Given the description of an element on the screen output the (x, y) to click on. 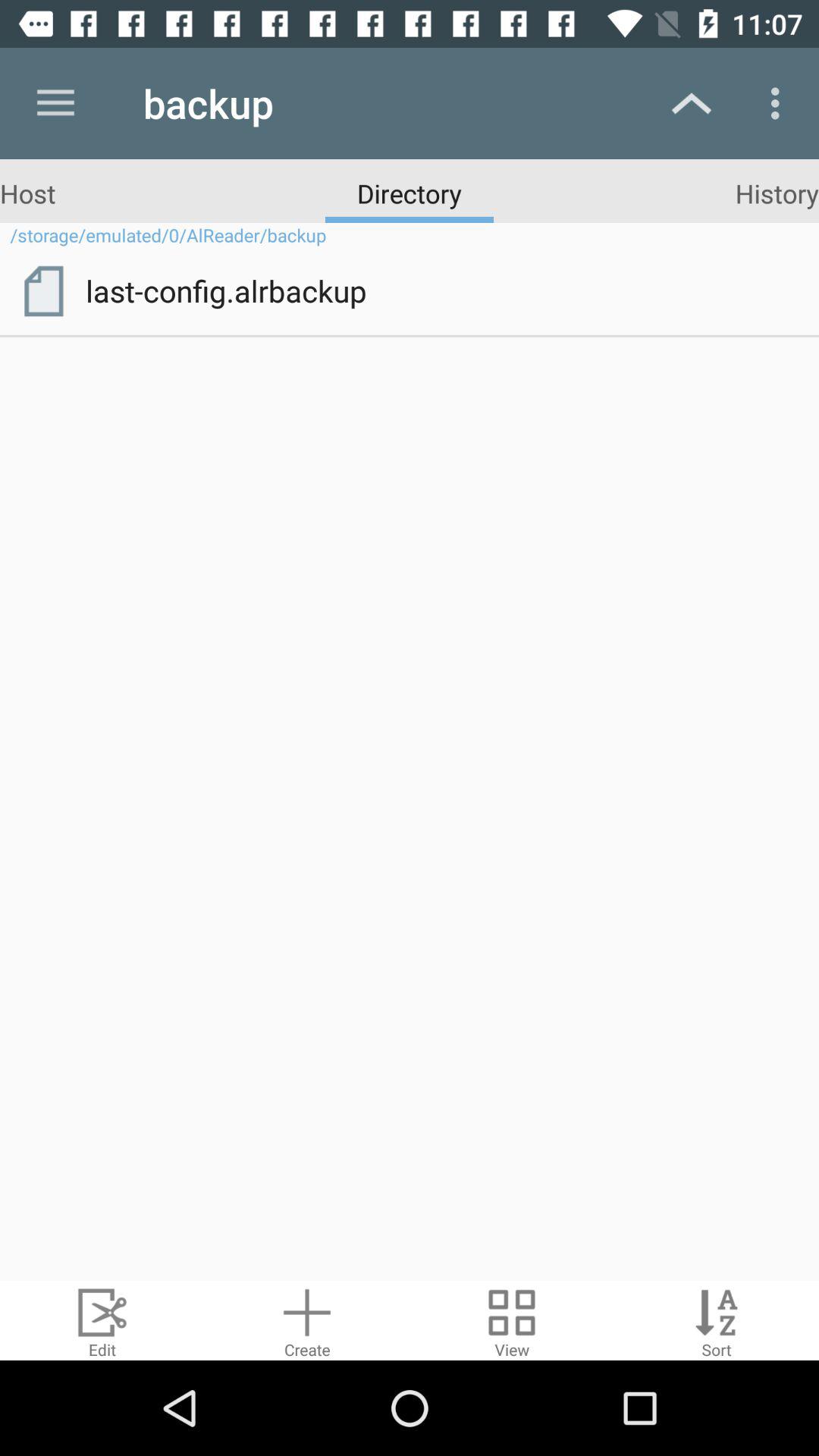
tap item next to the directory item (777, 193)
